Given the description of an element on the screen output the (x, y) to click on. 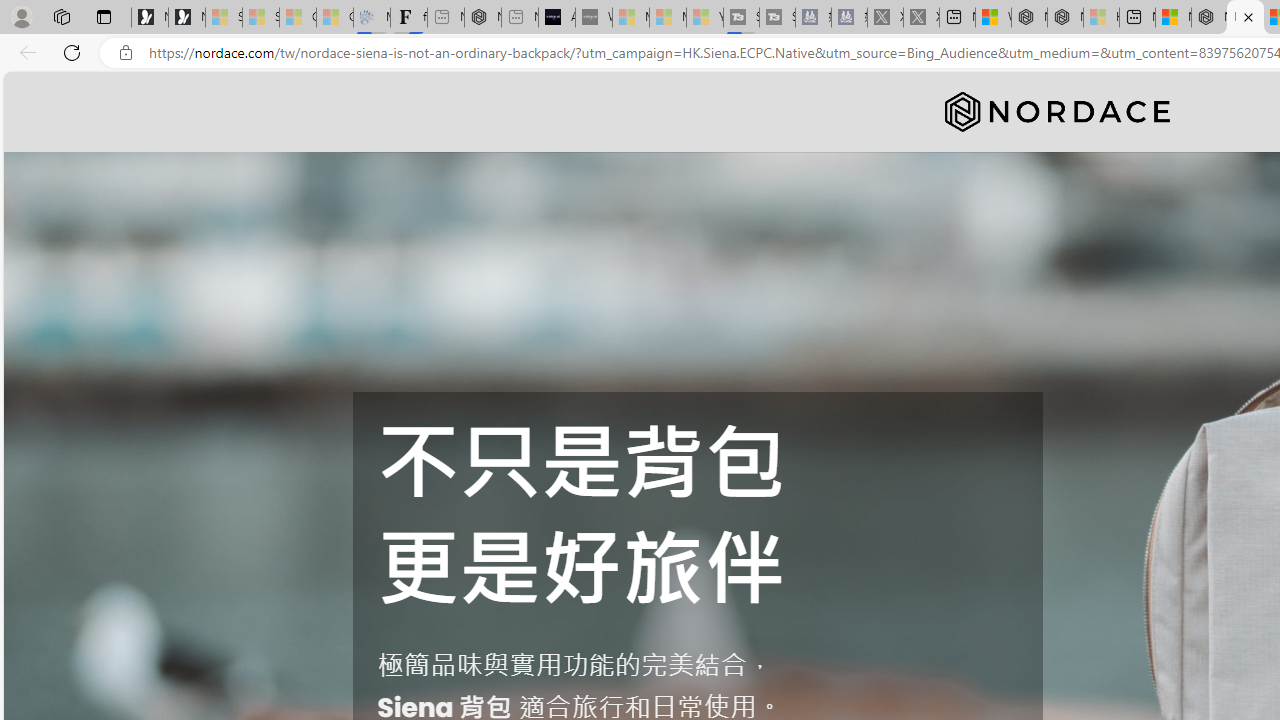
Newsletter Sign Up (186, 17)
AI Voice Changer for PC and Mac - Voice.ai (556, 17)
Nordace - Nordace Siena Is Not An Ordinary Backpack (1245, 17)
What's the best AI voice generator? - voice.ai - Sleeping (593, 17)
Microsoft Start - Sleeping (668, 17)
Nordace - #1 Japanese Best-Seller - Siena Smart Backpack (482, 17)
Streaming Coverage | T3 - Sleeping (741, 17)
